Given the description of an element on the screen output the (x, y) to click on. 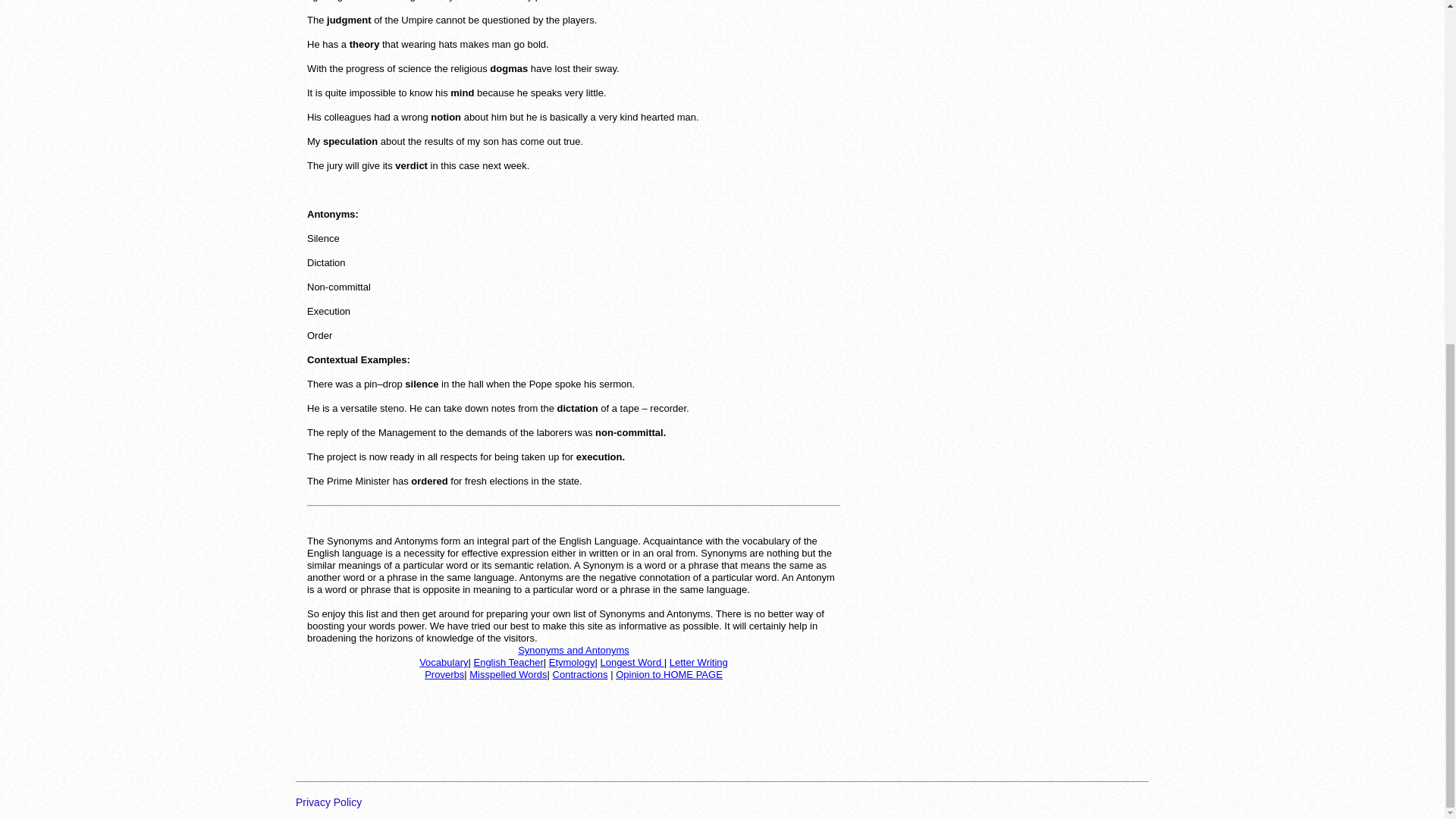
Vocabulary (443, 662)
Synonyms and Antonyms (573, 650)
Misspelled Words (507, 674)
Etymology (571, 662)
Proverbs (444, 674)
Letter Writing (698, 662)
English Teacher (508, 662)
Longest Word (631, 662)
